Given the description of an element on the screen output the (x, y) to click on. 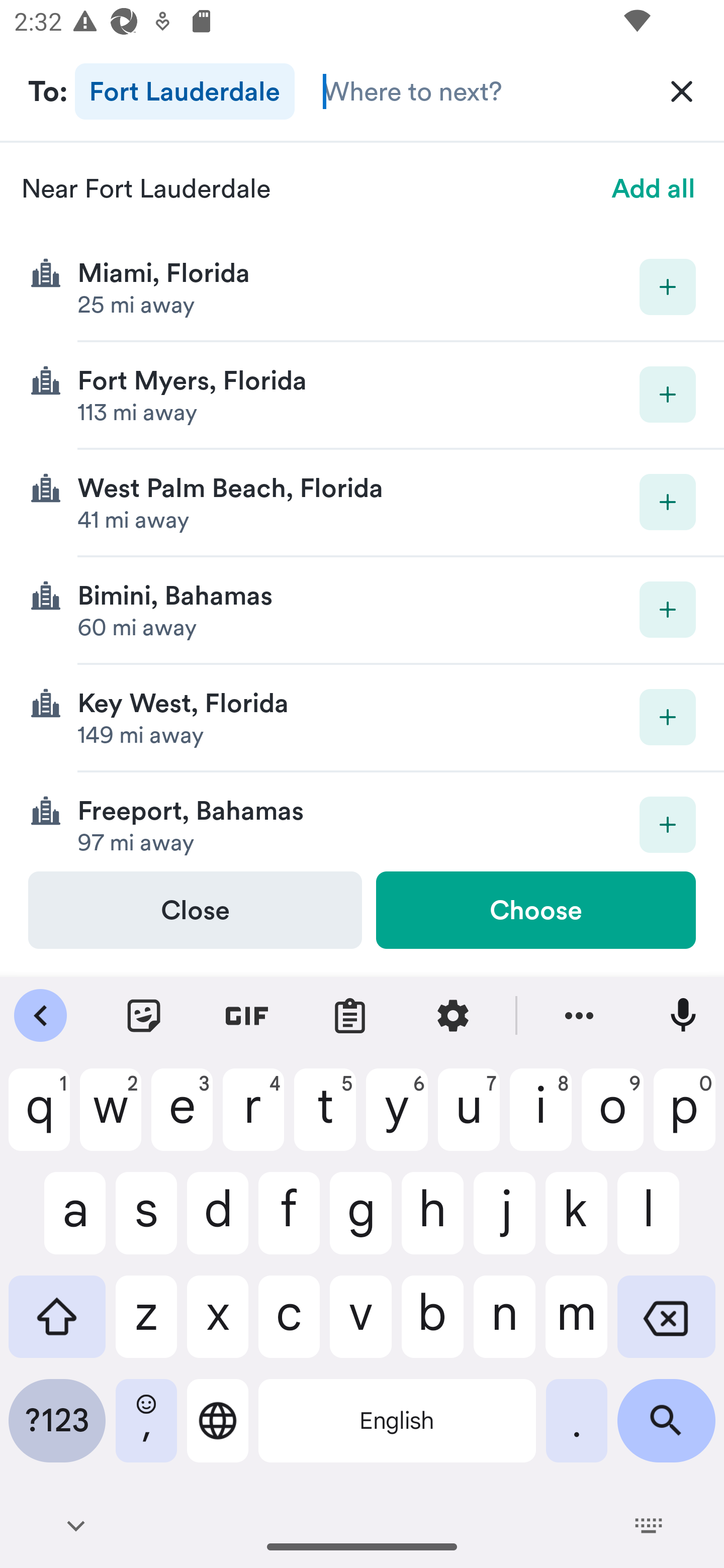
Fort Lauderdale (184, 90)
Clear All (681, 90)
Add all (653, 187)
Add destination Miami, Florida 25 mi away (362, 287)
Add destination (667, 286)
Add destination Fort Myers, Florida 113 mi away (362, 395)
Add destination (667, 394)
Add destination (667, 501)
Add destination Bimini, Bahamas 60 mi away (362, 610)
Add destination (667, 609)
Add destination Key West, Florida 149 mi away (362, 717)
Add destination (667, 716)
Add destination Freeport, Bahamas 97 mi away (362, 821)
Add destination (667, 824)
Close (195, 909)
Choose (535, 909)
